Given the description of an element on the screen output the (x, y) to click on. 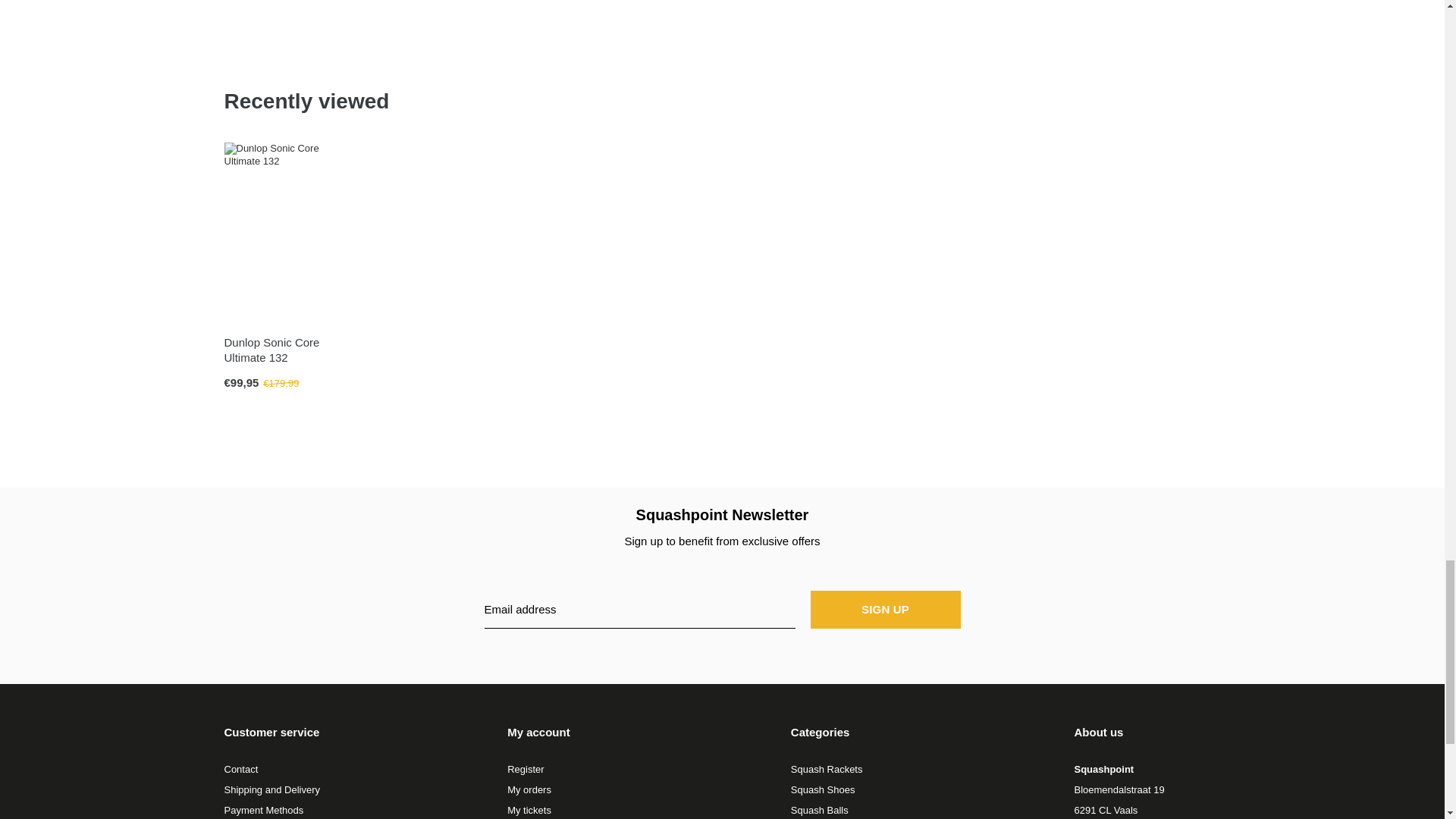
My tickets (528, 809)
My orders (528, 789)
Register (524, 768)
